Given the description of an element on the screen output the (x, y) to click on. 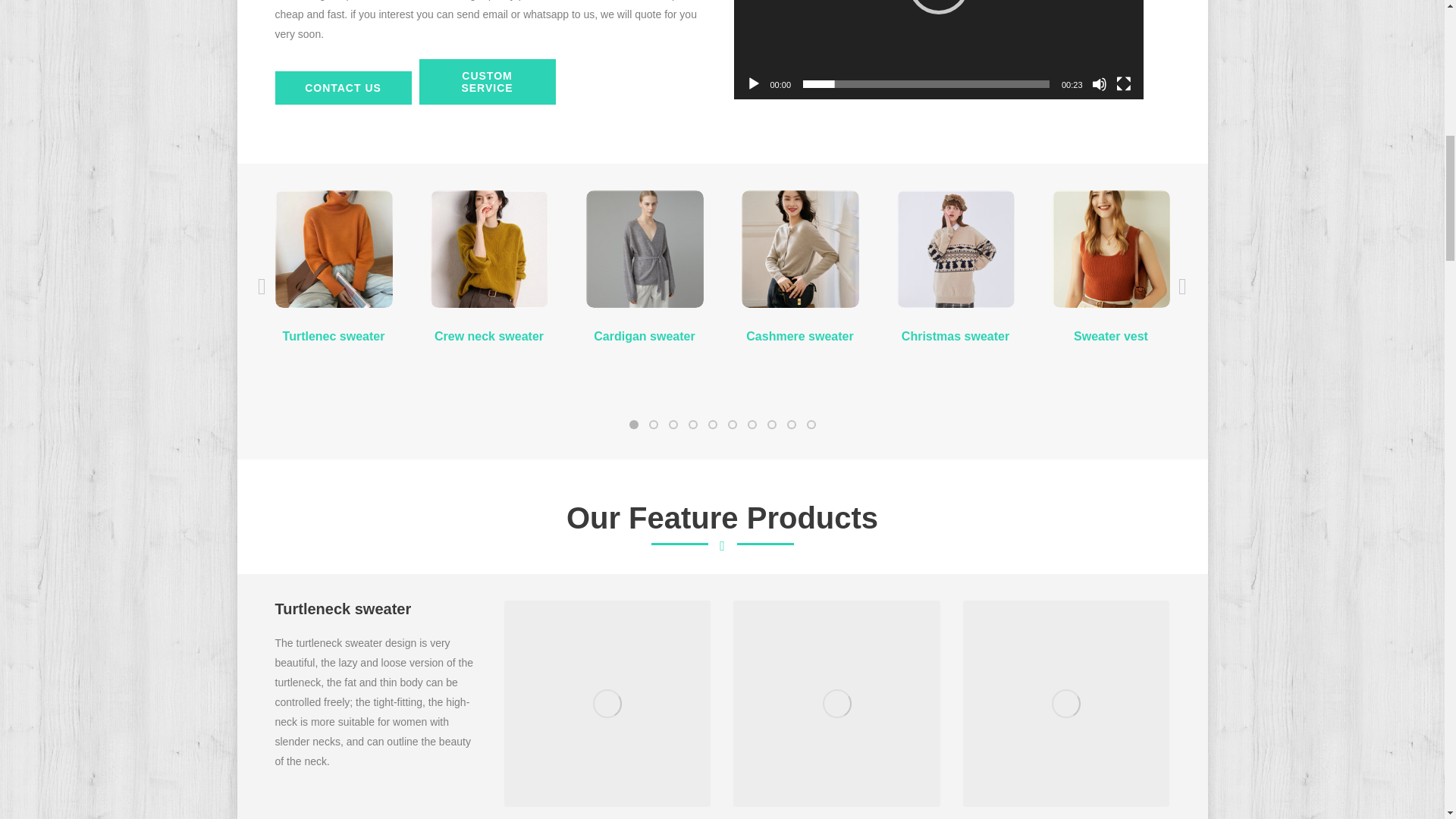
Play (753, 83)
Mute (1099, 83)
Fullscreen (1123, 83)
